Given the description of an element on the screen output the (x, y) to click on. 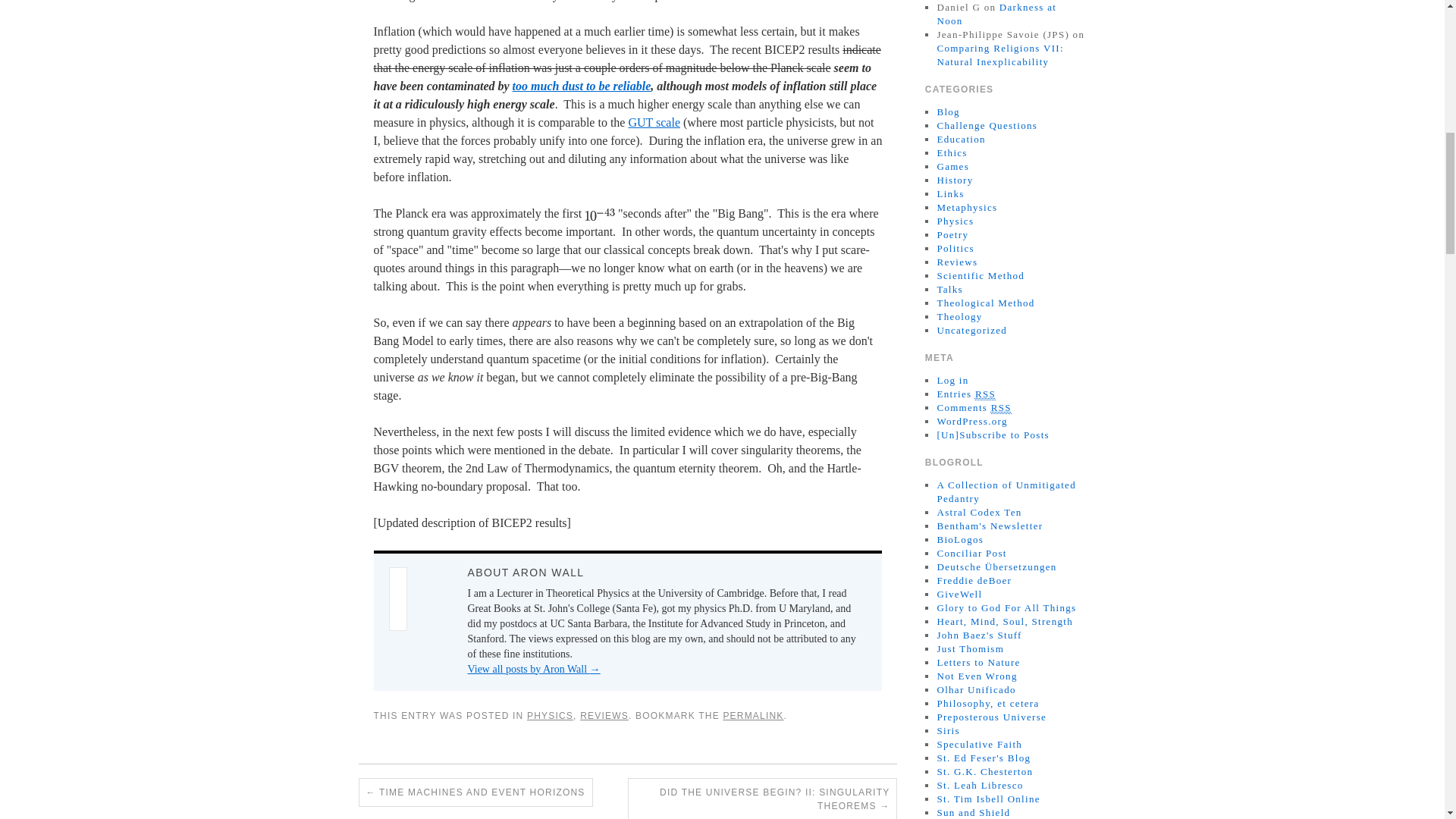
too much dust to be reliable (581, 85)
PHYSICS (550, 715)
PERMALINK (752, 715)
REVIEWS (603, 715)
View all posts in Reviews (603, 715)
View all posts in Physics (550, 715)
Permalink to Did the Universe Begin? I: Big Bang Cosmology (752, 715)
GUT scale (653, 122)
